Given the description of an element on the screen output the (x, y) to click on. 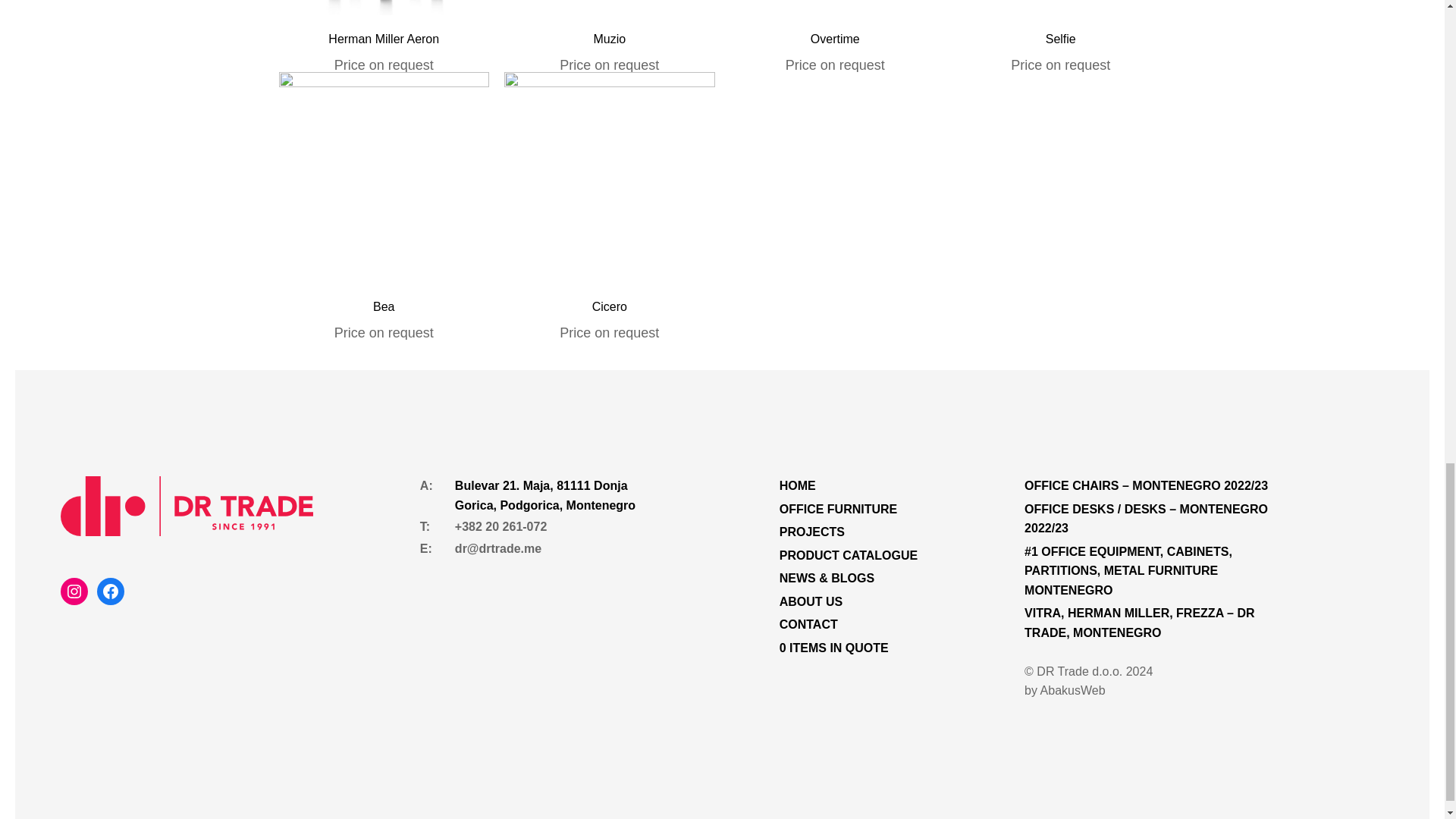
Overtime (835, 38)
Herman Miller Aeron (384, 38)
Muzio (609, 38)
Selfie (1060, 38)
Cicero (609, 306)
Bea (383, 306)
